Given the description of an element on the screen output the (x, y) to click on. 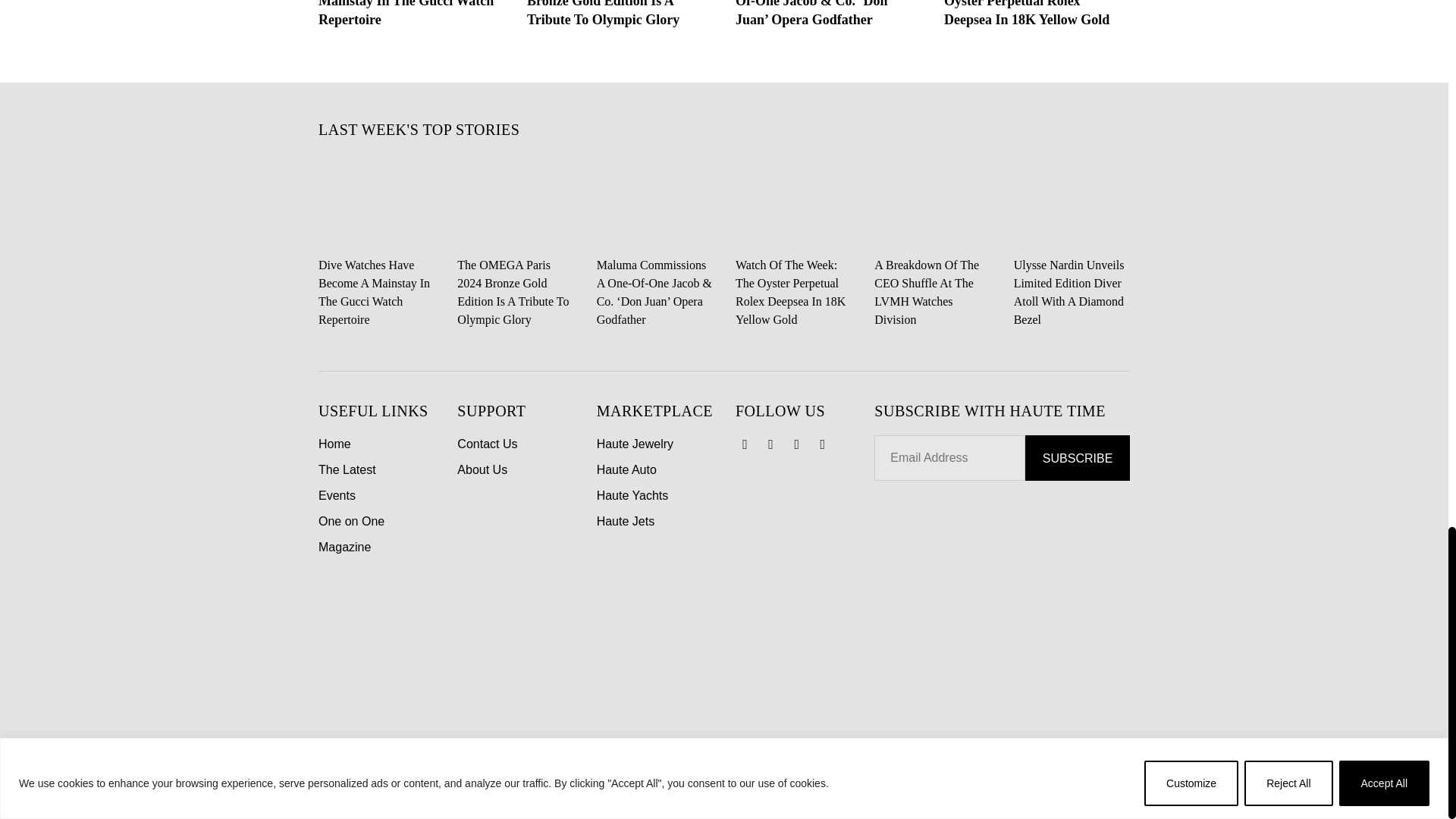
SUBSCRIBE (1077, 457)
